Given the description of an element on the screen output the (x, y) to click on. 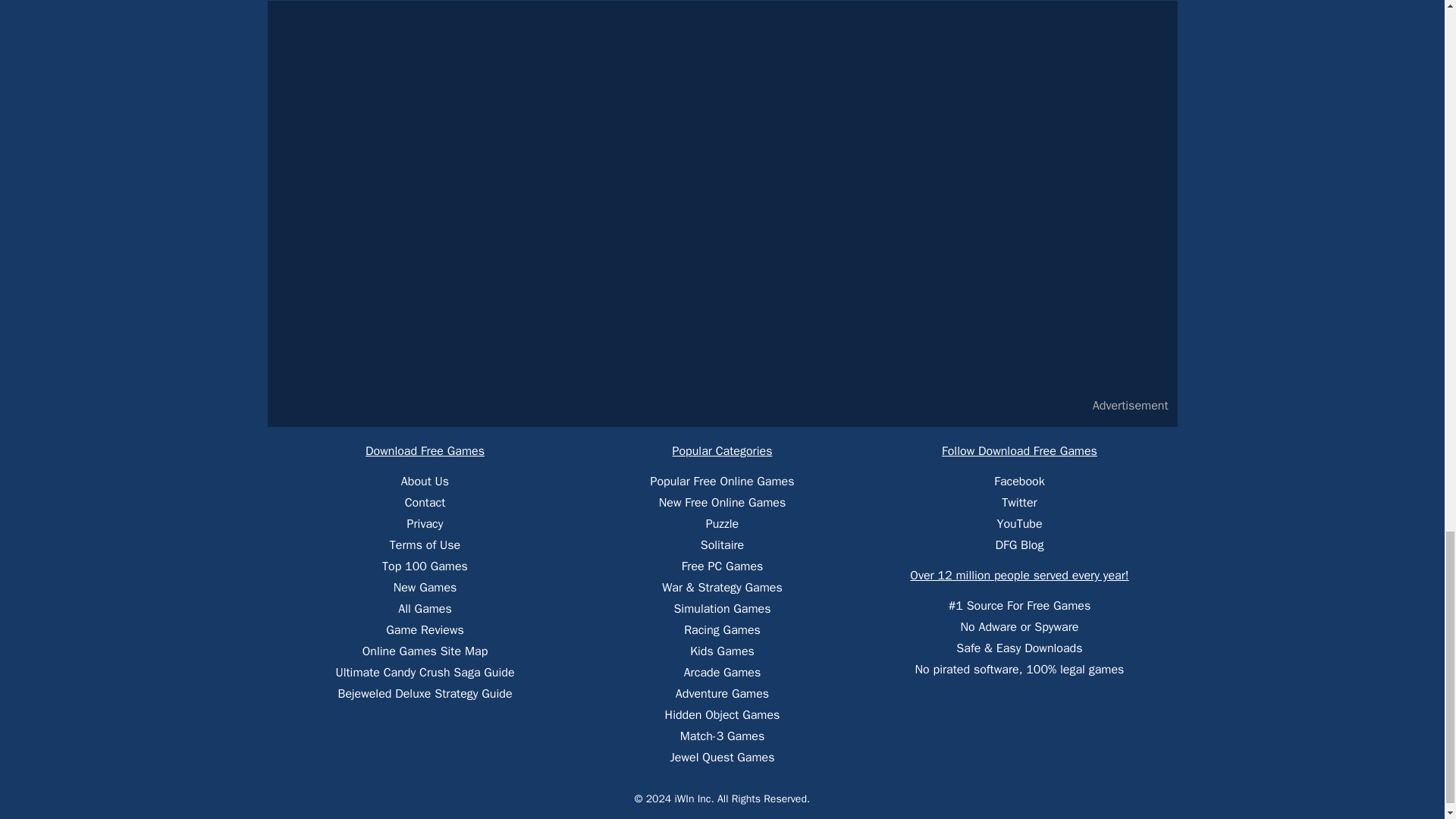
Privacy (425, 523)
Terms of Use (425, 544)
Top 100 Games (424, 566)
About Us (424, 481)
Contact (424, 502)
